Given the description of an element on the screen output the (x, y) to click on. 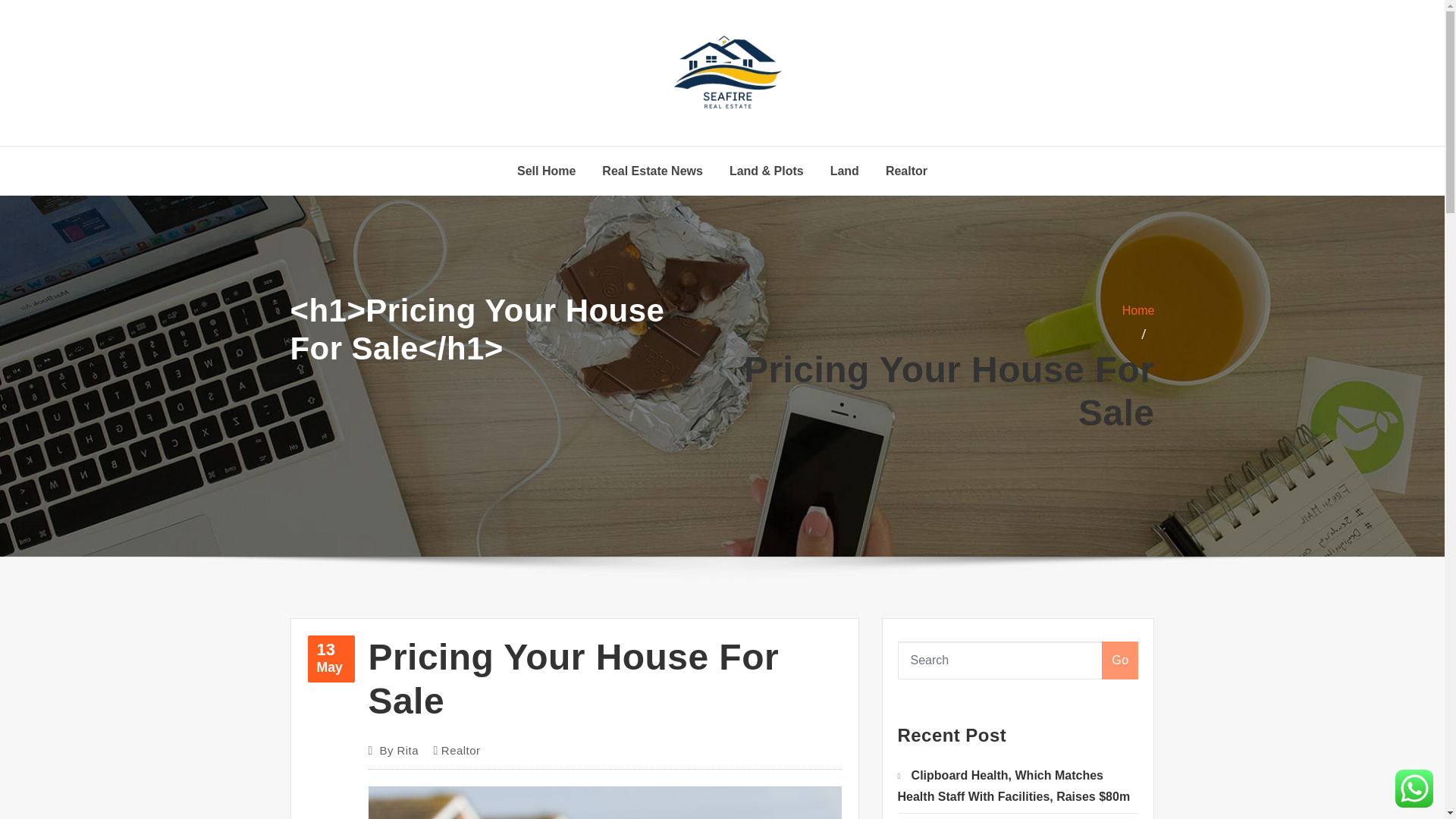
By Rita (398, 750)
Home (1138, 309)
Go (330, 658)
Real Estate News (1120, 660)
Sell Home (652, 171)
Land (545, 171)
Realtor (844, 171)
Pricing Your House For Sale (460, 750)
Realtor (943, 400)
